Given the description of an element on the screen output the (x, y) to click on. 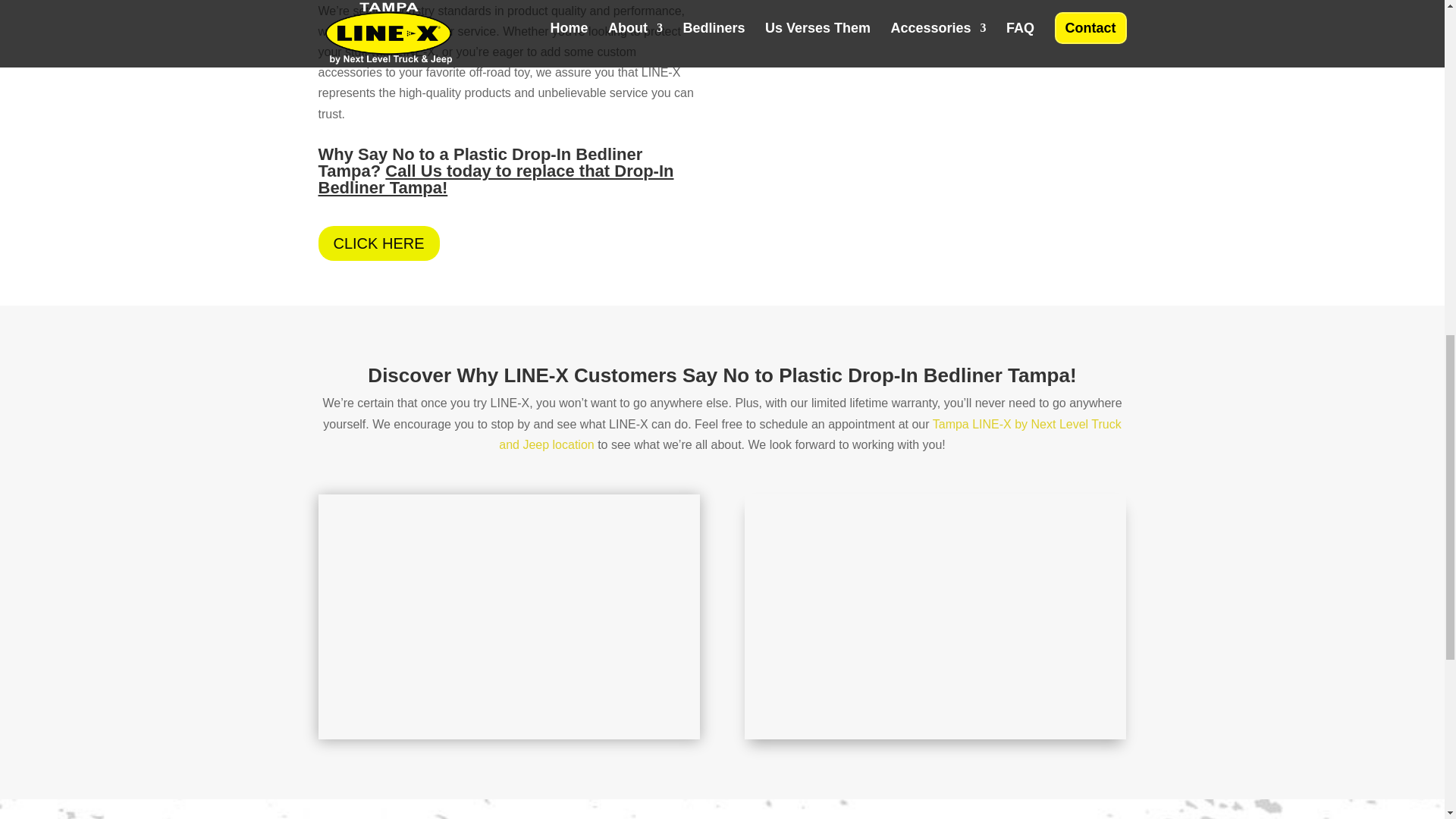
YouTube video player (935, 613)
YouTube video player (509, 613)
